Given the description of an element on the screen output the (x, y) to click on. 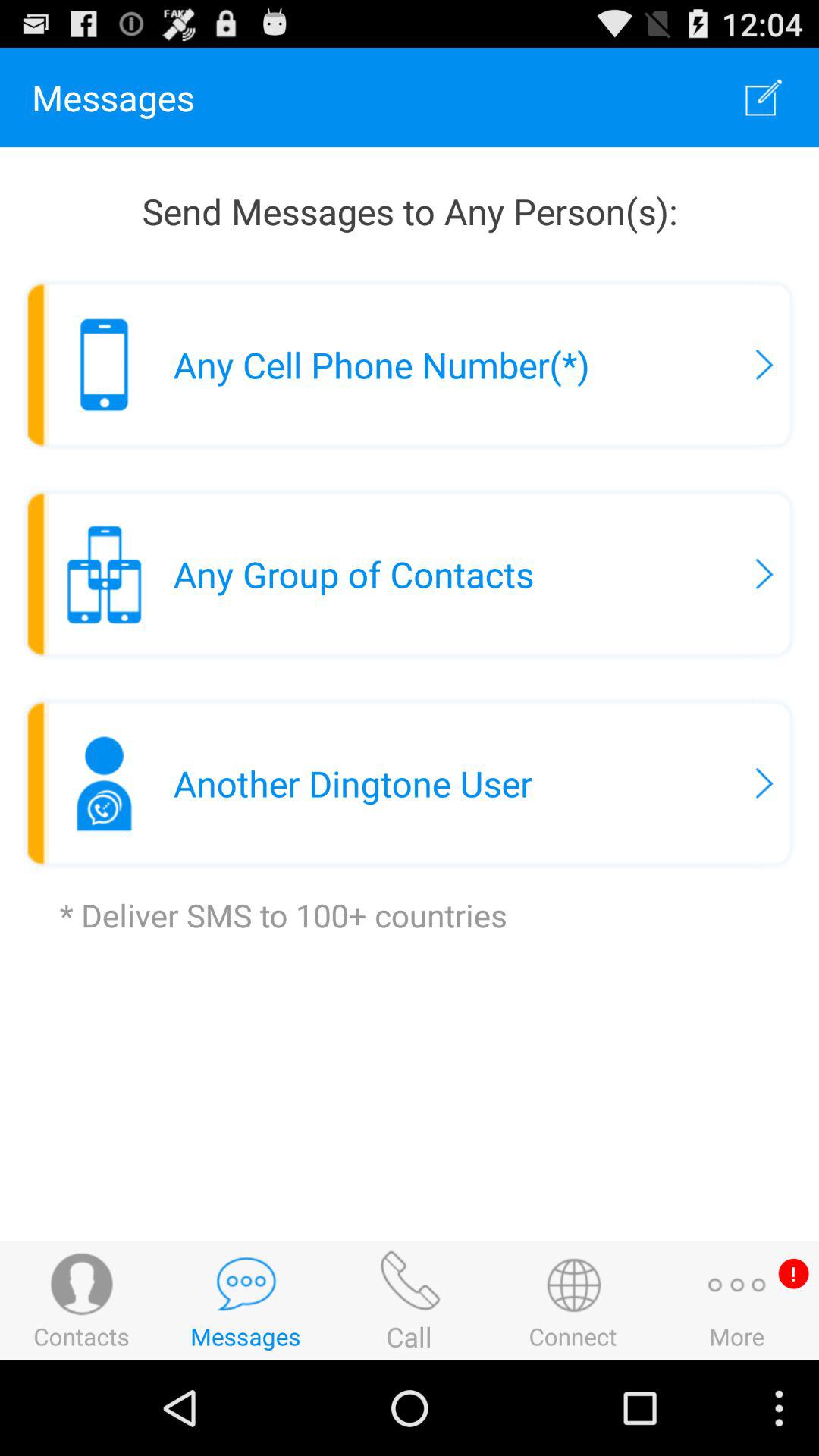
select the icon above send messages to item (763, 97)
